Given the description of an element on the screen output the (x, y) to click on. 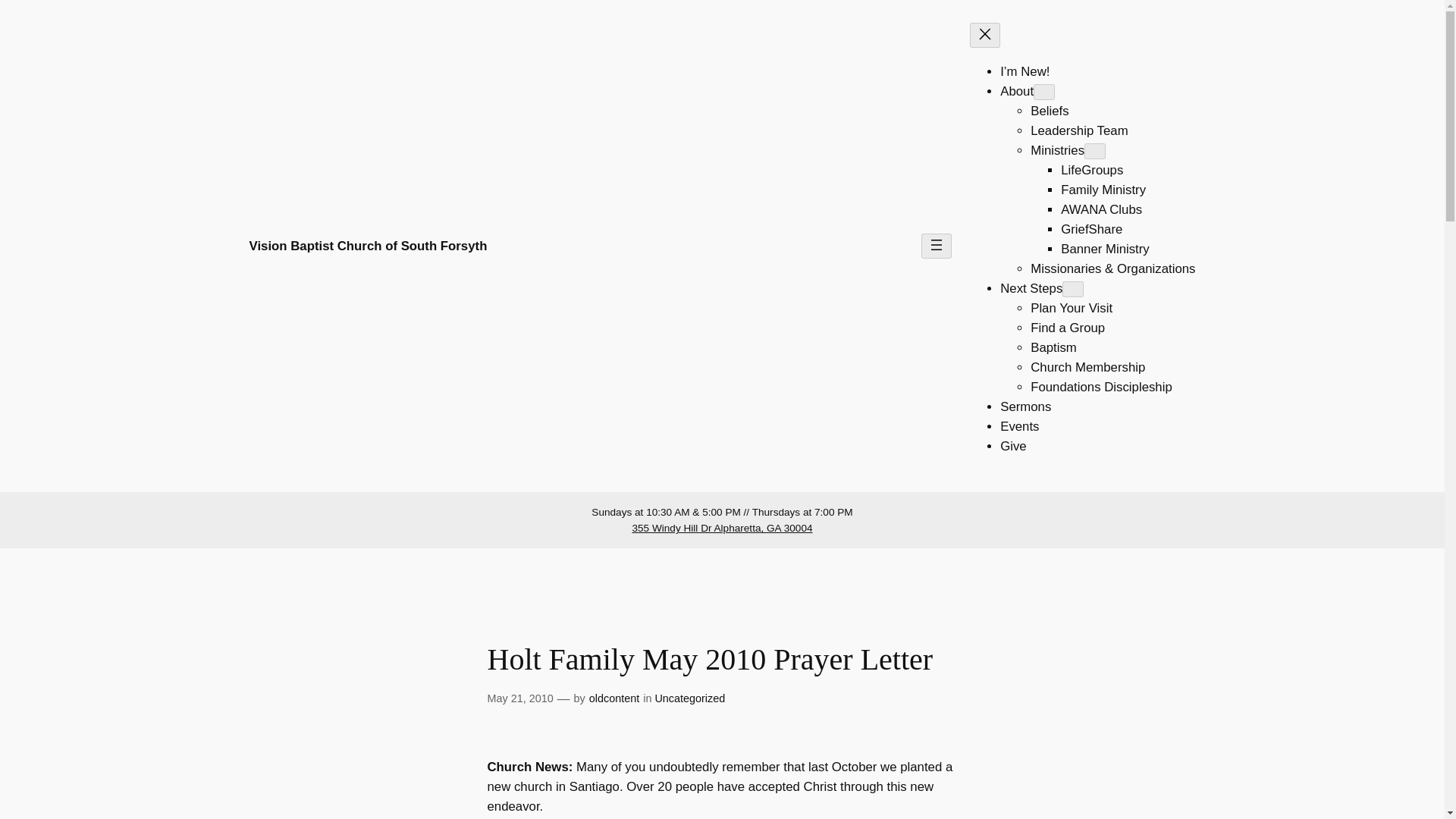
GriefShare (1091, 228)
LifeGroups (1091, 169)
Baptism (1053, 347)
Find a Group (1067, 327)
Give (1013, 445)
Family Ministry (1103, 189)
Ministries (1057, 150)
Leadership Team (1078, 130)
Plan Your Visit (1071, 308)
Foundations Discipleship (1101, 386)
Sermons (1025, 406)
Church Membership (1087, 367)
355 Windy Hill Dr Alpharetta, GA 30004 (721, 527)
AWANA Clubs (1101, 209)
Beliefs (1049, 110)
